Given the description of an element on the screen output the (x, y) to click on. 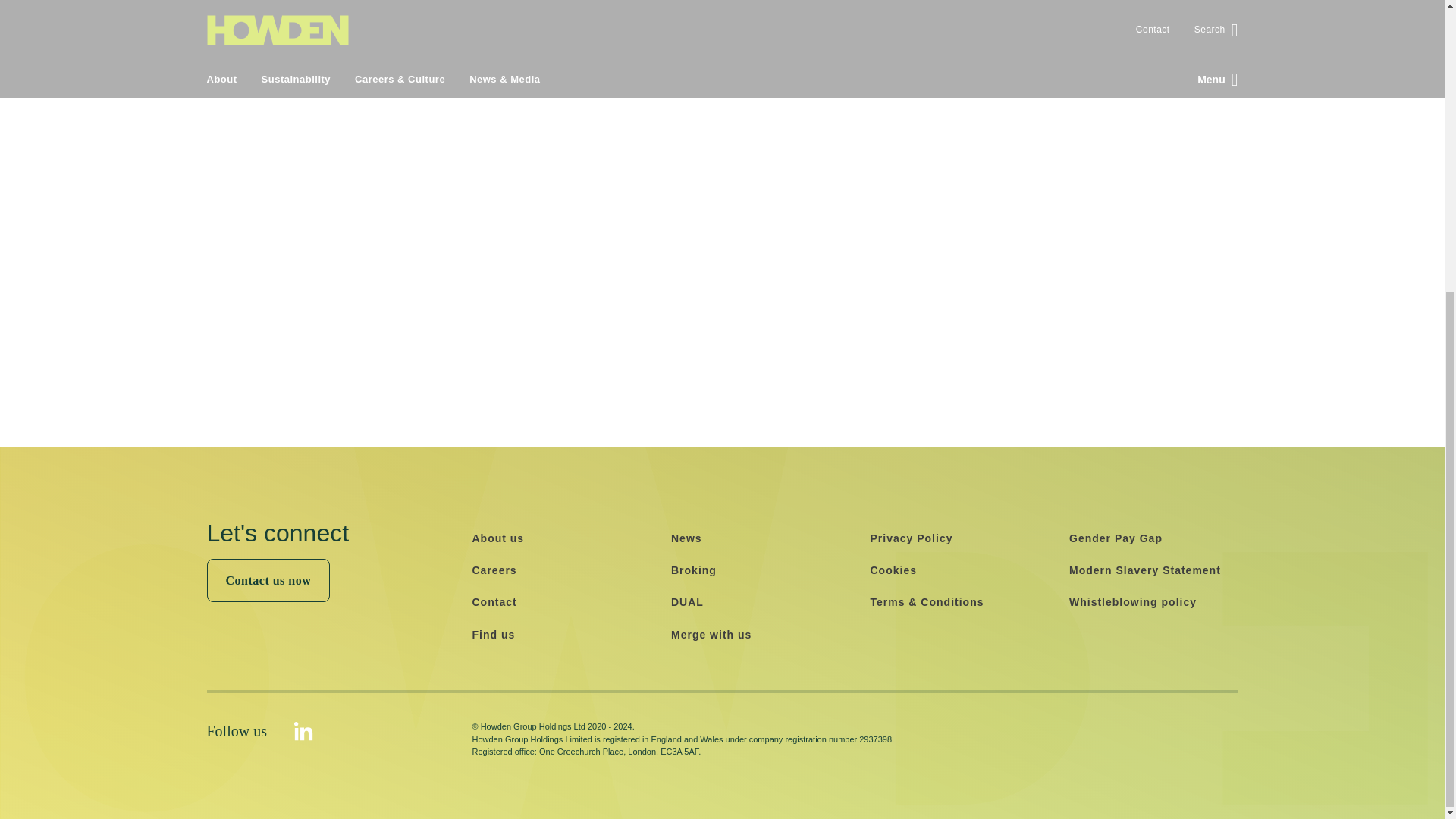
Contact us now (268, 579)
Modern Slavery Statement (1144, 570)
Cookies (893, 570)
Careers (493, 570)
About us (497, 538)
Find us (493, 634)
Gender Pay Gap (1114, 538)
About us (497, 538)
Merge with us (711, 634)
Broking (693, 570)
